Given the description of an element on the screen output the (x, y) to click on. 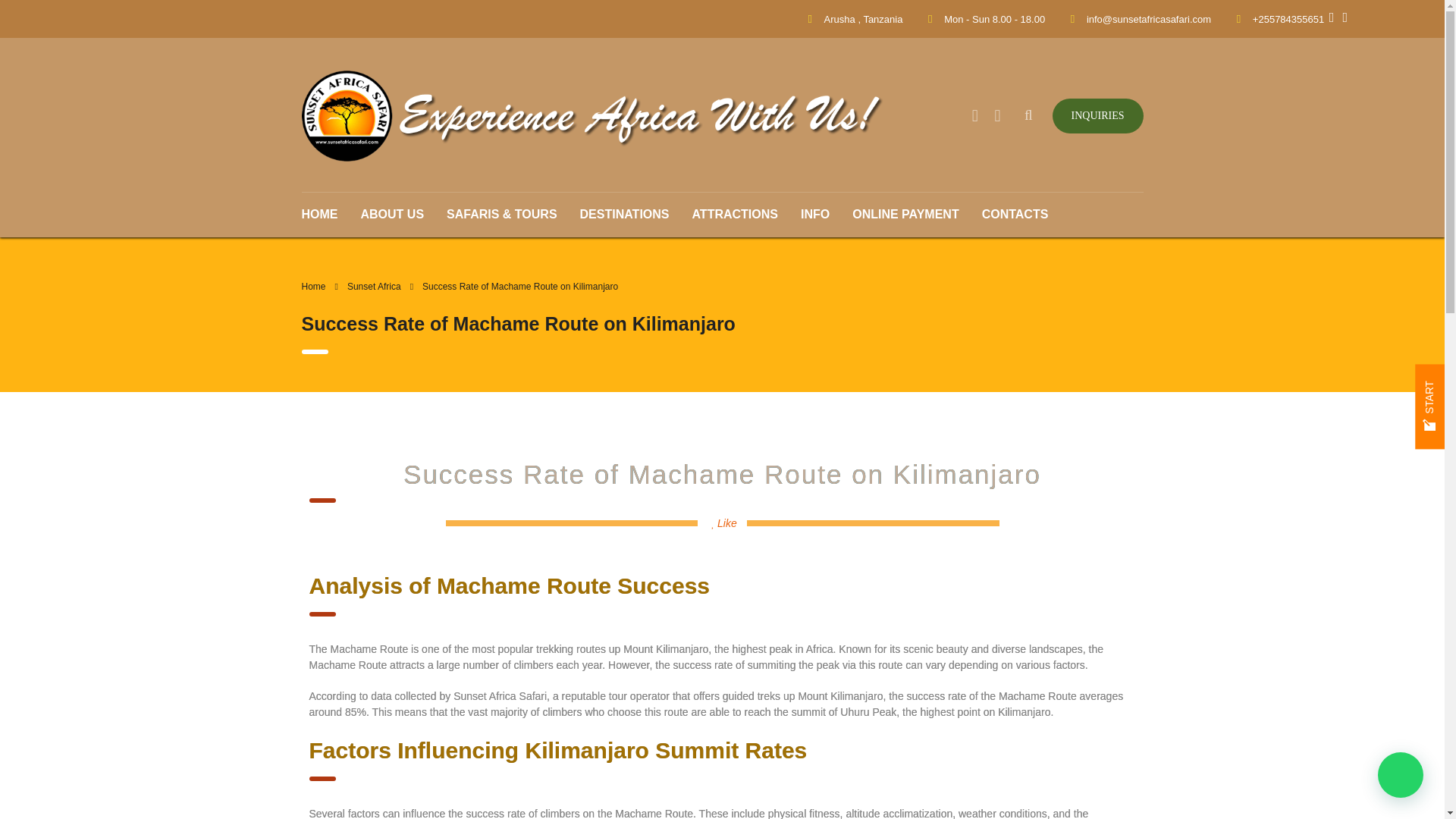
DESTINATIONS (625, 214)
Go to the Sunset Africa category archives. (374, 286)
Like (725, 522)
Go to Sunset Africa Safari. (313, 286)
INQUIRIES (1097, 115)
ATTRACTIONS (735, 214)
HOME (325, 214)
ABOUT US (392, 214)
